Given the description of an element on the screen output the (x, y) to click on. 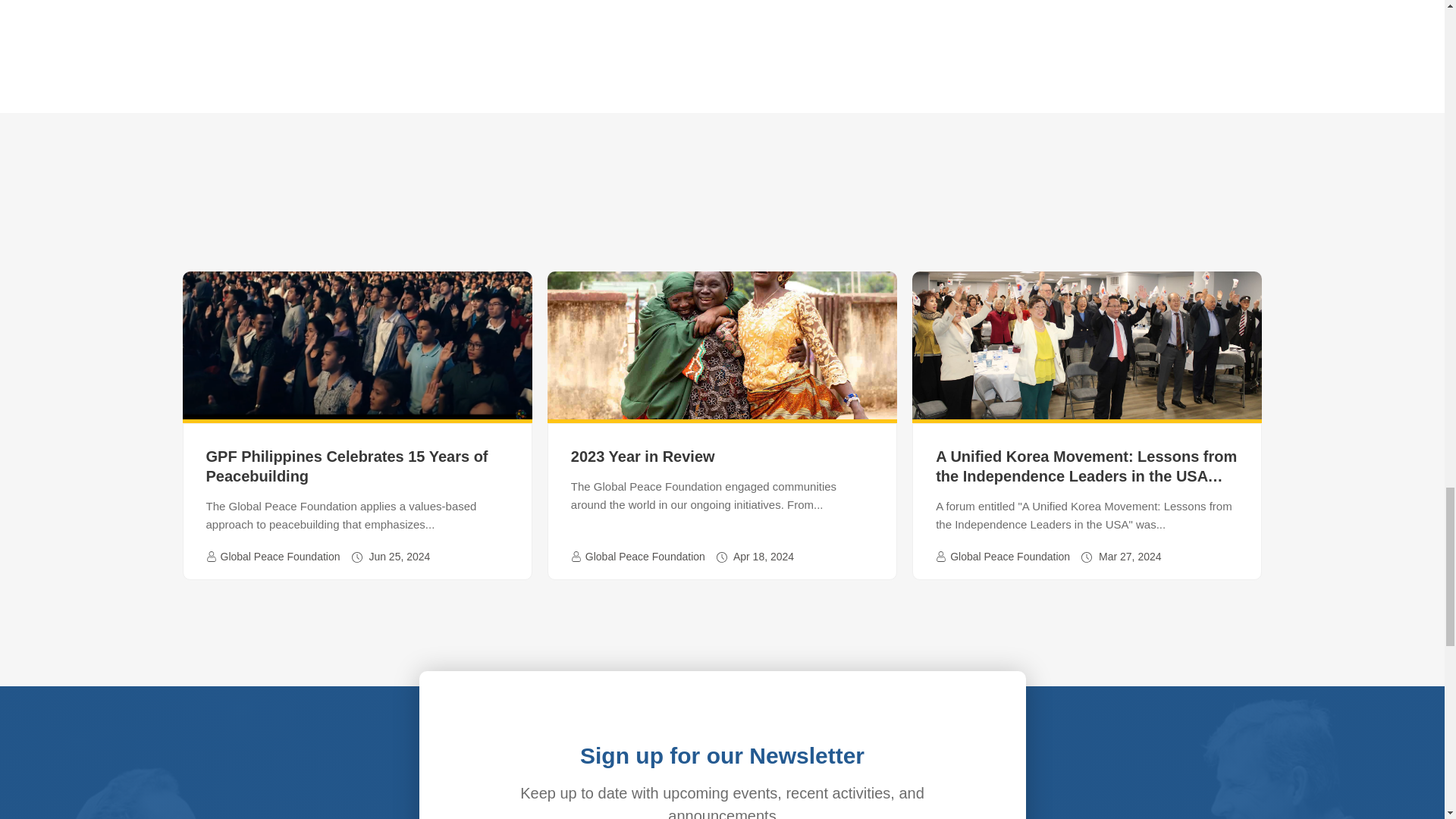
Posts by Global Peace Foundation (644, 556)
Posts by Global Peace Foundation (279, 556)
Posts by Global Peace Foundation (1010, 556)
